Given the description of an element on the screen output the (x, y) to click on. 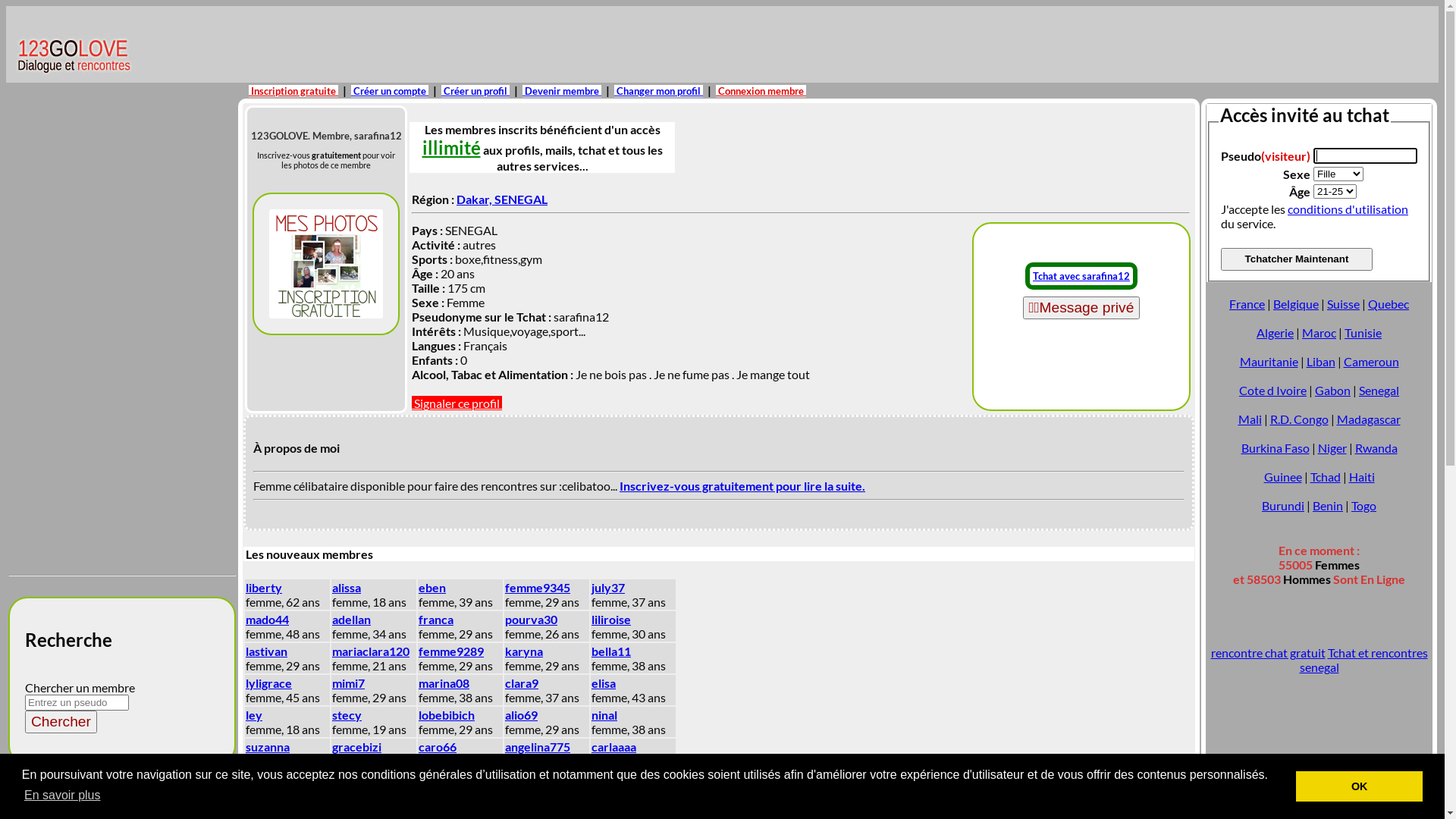
femme9084 Element type: text (450, 810)
Algerie Element type: text (1274, 331)
femme9345 Element type: text (537, 587)
sarafina12 Element type: hover (325, 263)
elveroy Element type: text (353, 778)
eve11 Element type: text (262, 778)
Senegal Element type: text (1378, 389)
conditions d'utilisation Element type: text (1347, 208)
 Changer mon profil  Element type: text (658, 90)
rencontre chat gratuit Element type: text (1267, 652)
mariaclara120 Element type: text (370, 650)
R.D. Congo Element type: text (1298, 418)
Tchatcher Maintenant Element type: text (1296, 258)
Tchat avec sarafina12 Element type: text (1080, 275)
miya1234 Element type: text (444, 778)
Benin Element type: text (1327, 504)
Niger Element type: text (1331, 446)
Haiti Element type: text (1361, 475)
Quebec Element type: text (1388, 302)
adellan Element type: text (351, 618)
Inscrivez-vous gratuitement pour lire la suite. Element type: text (742, 485)
alio69 Element type: text (521, 714)
Liban Element type: text (1319, 360)
ninal Element type: text (604, 714)
Togo Element type: text (1363, 504)
Rwanda Element type: text (1375, 446)
stecy Element type: text (346, 714)
love Element type: text (603, 810)
franca Element type: text (435, 618)
bella11 Element type: text (610, 650)
 Devenir membre  Element type: text (561, 90)
Maroc Element type: text (1319, 331)
carlaaaa Element type: text (613, 746)
Guinee Element type: text (1282, 475)
caro66 Element type: text (437, 746)
Suisse Element type: text (1343, 302)
july37 Element type: text (607, 587)
Mali Element type: text (1249, 418)
Burkina Faso Element type: text (1274, 446)
elisa Element type: text (603, 682)
 Inscription gratuite  Element type: text (293, 90)
mado44 Element type: text (266, 618)
OK Element type: text (1358, 786)
Burundi Element type: text (1282, 504)
Tunisie Element type: text (1362, 331)
En savoir plus Element type: text (62, 795)
lyligrace Element type: text (268, 682)
Mauritanie Element type: text (1268, 360)
eben Element type: text (431, 587)
suzanna Element type: text (267, 746)
lexie Element type: text (258, 810)
Tchad Element type: text (1325, 475)
Cote d Ivoire Element type: text (1272, 389)
gracebizi Element type: text (356, 746)
nadegeaka12 Element type: text (541, 778)
Dakar, SENEGAL Element type: text (501, 198)
 Connexion membre  Element type: text (760, 90)
angelina775 Element type: text (537, 746)
Madagascar Element type: text (1367, 418)
alissa Element type: text (346, 587)
pourva30 Element type: text (531, 618)
Gabon Element type: text (1332, 389)
mimi7 Element type: text (348, 682)
clara9 Element type: text (521, 682)
liliroise Element type: text (610, 618)
Tchat et rencontres senegal Element type: text (1363, 659)
Chercher Element type: text (61, 721)
liberty Element type: text (263, 587)
Cameroun Element type: text (1371, 360)
marina08 Element type: text (443, 682)
ley Element type: text (253, 714)
 Signaler ce profil  Element type: text (456, 402)
jade Element type: text (343, 810)
zeina Element type: text (605, 778)
mariephilippe Element type: text (542, 810)
Belgique Element type: text (1295, 302)
lobebibich Element type: text (446, 714)
karyna Element type: text (523, 650)
lastivan Element type: text (266, 650)
France Element type: text (1246, 302)
femme9289 Element type: text (450, 650)
